Given the description of an element on the screen output the (x, y) to click on. 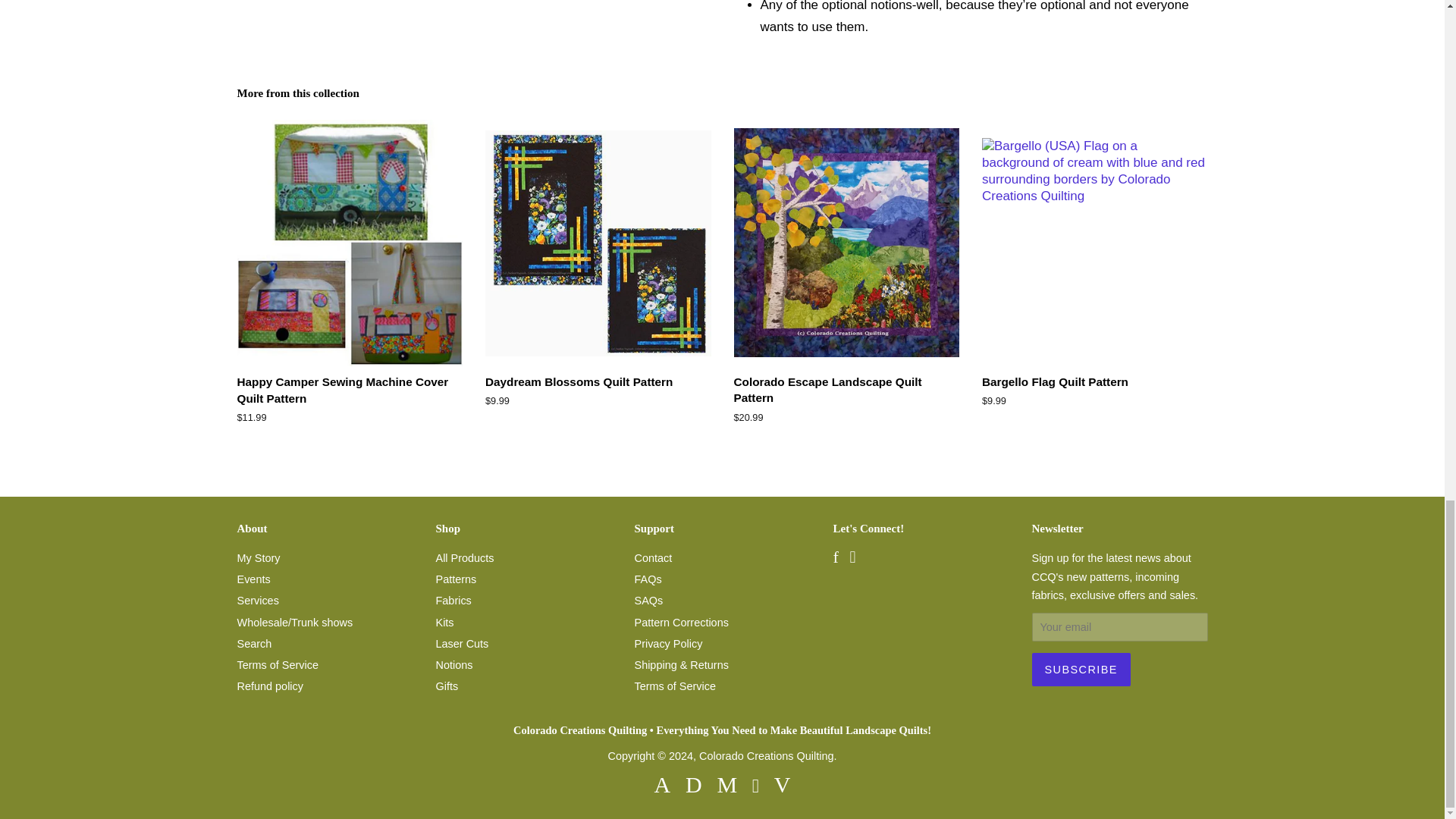
Subscribe (1079, 669)
Colorado Creations Quilting on Instagram (853, 558)
Colorado Creations Quilting on Facebook (835, 558)
